Given the description of an element on the screen output the (x, y) to click on. 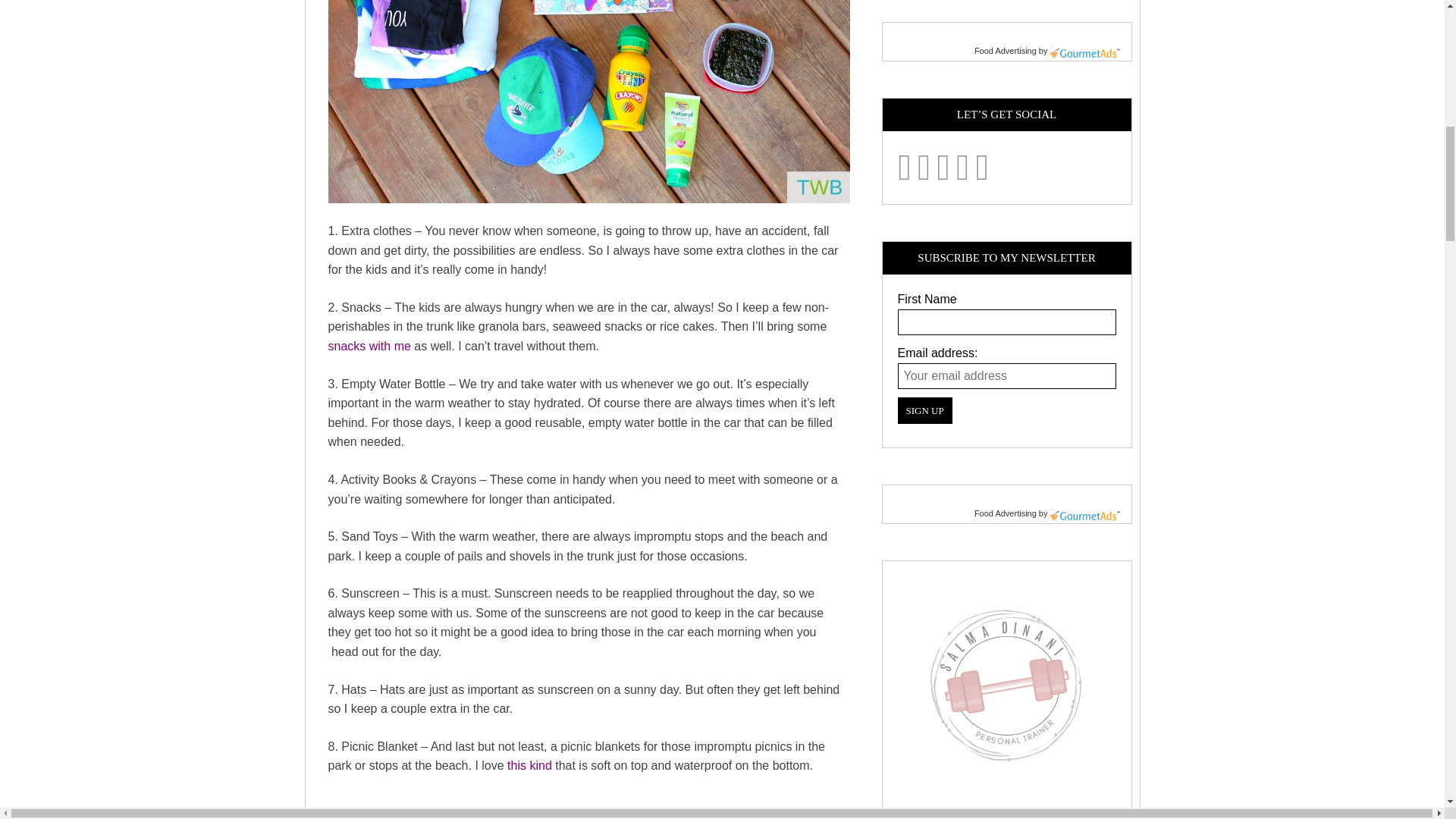
Food Advertising (1005, 50)
Sign up (925, 410)
Food Advertising (1005, 512)
